Given the description of an element on the screen output the (x, y) to click on. 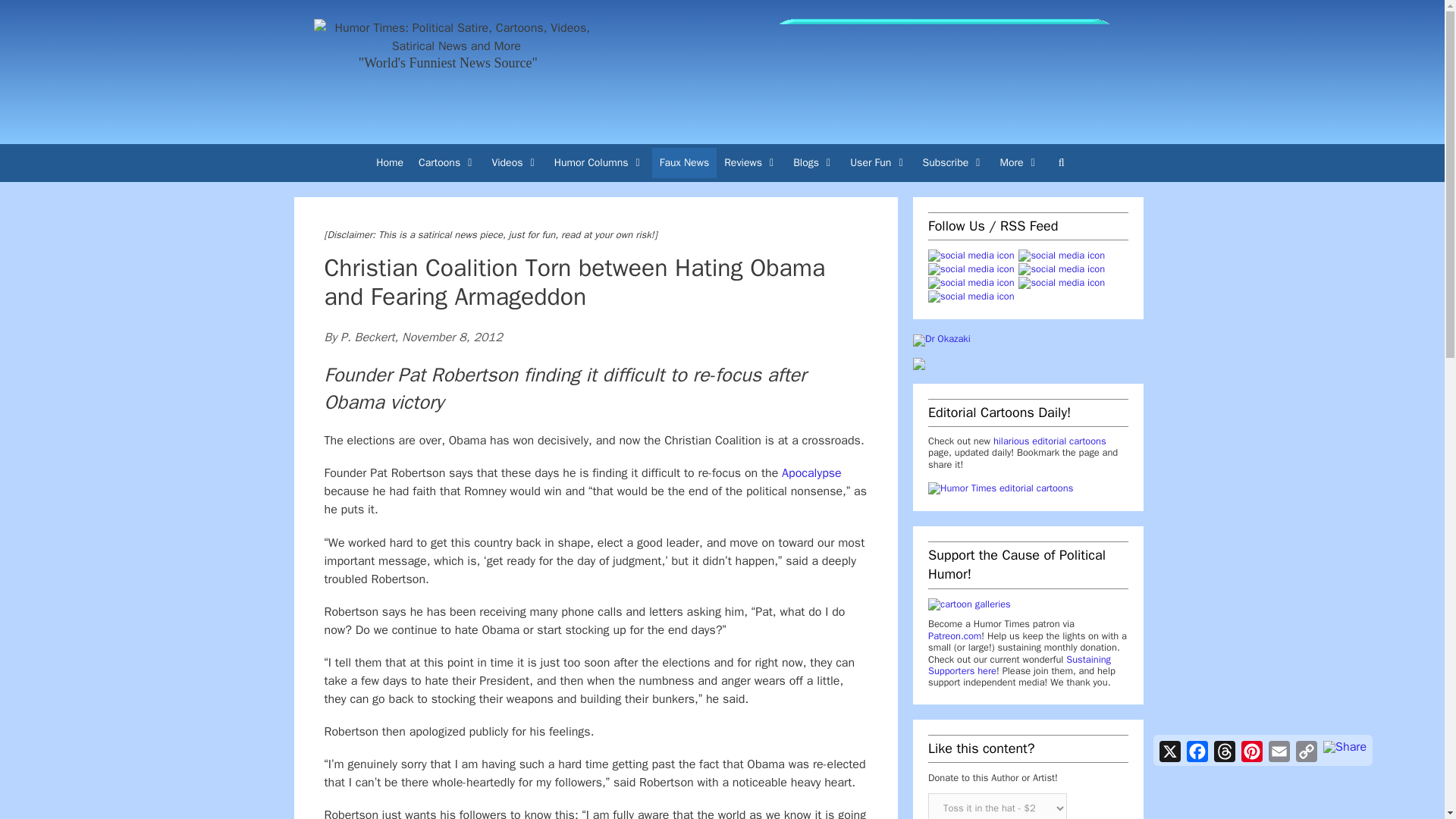
Instagram (971, 269)
HT YouTube page (1061, 269)
Humor Times Free Trial (944, 67)
HT Pinterest page (971, 283)
View all posts by P. Beckert (367, 337)
Cartoons (446, 163)
Home (389, 163)
HT Facebook page (971, 255)
HT Twitter (1061, 255)
11:18 AM (451, 337)
